Given the description of an element on the screen output the (x, y) to click on. 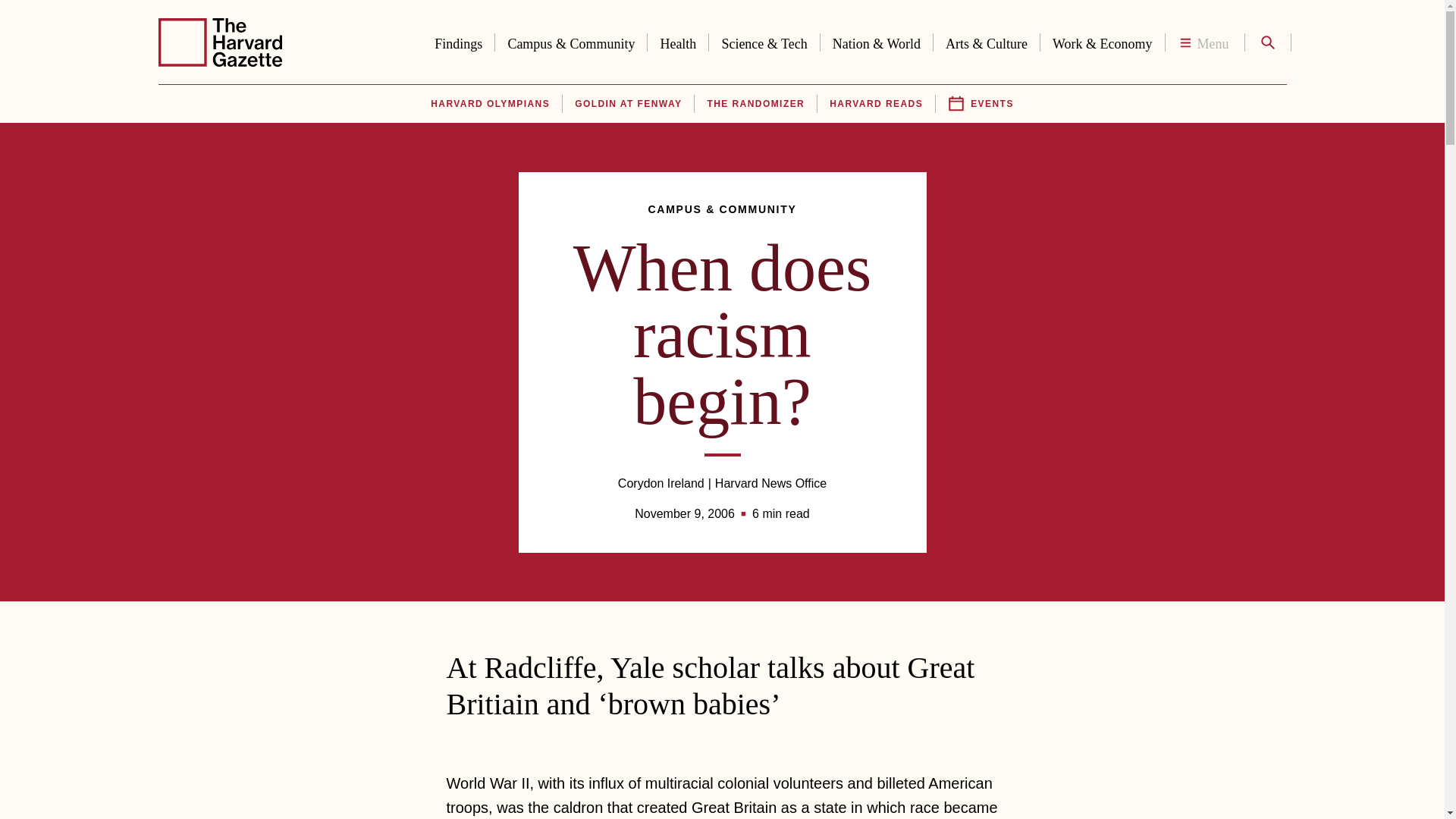
GOLDIN AT FENWAY (627, 103)
Findings (457, 41)
HARVARD OLYMPIANS (490, 103)
Health (677, 41)
Menu (1204, 42)
